Given the description of an element on the screen output the (x, y) to click on. 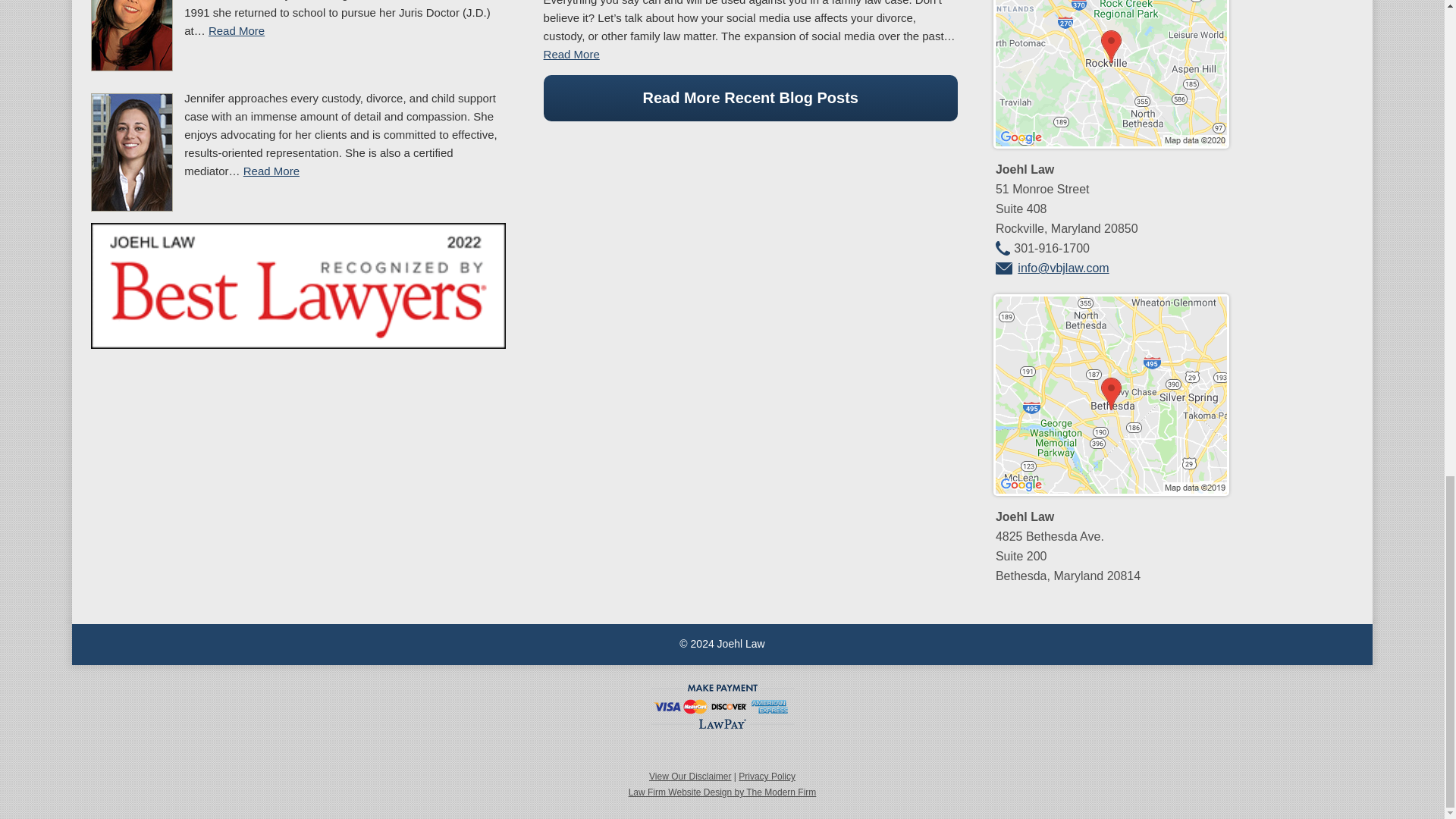
Privacy Policy (766, 776)
View Jennifer M. Silverman's Attorney Profile (271, 170)
Read More Recent Blog Posts (750, 98)
View Our Disclaimer (689, 776)
Click to view this map on Google Maps (1111, 489)
Email (1062, 267)
View Virginia B. Joehl's Attorney Profile (236, 30)
Law Firm Website Design (722, 792)
Click to view this map on Google Maps (1111, 141)
Read More (571, 53)
Read More (271, 170)
Disclaimer (689, 776)
Read More (236, 30)
